Given the description of an element on the screen output the (x, y) to click on. 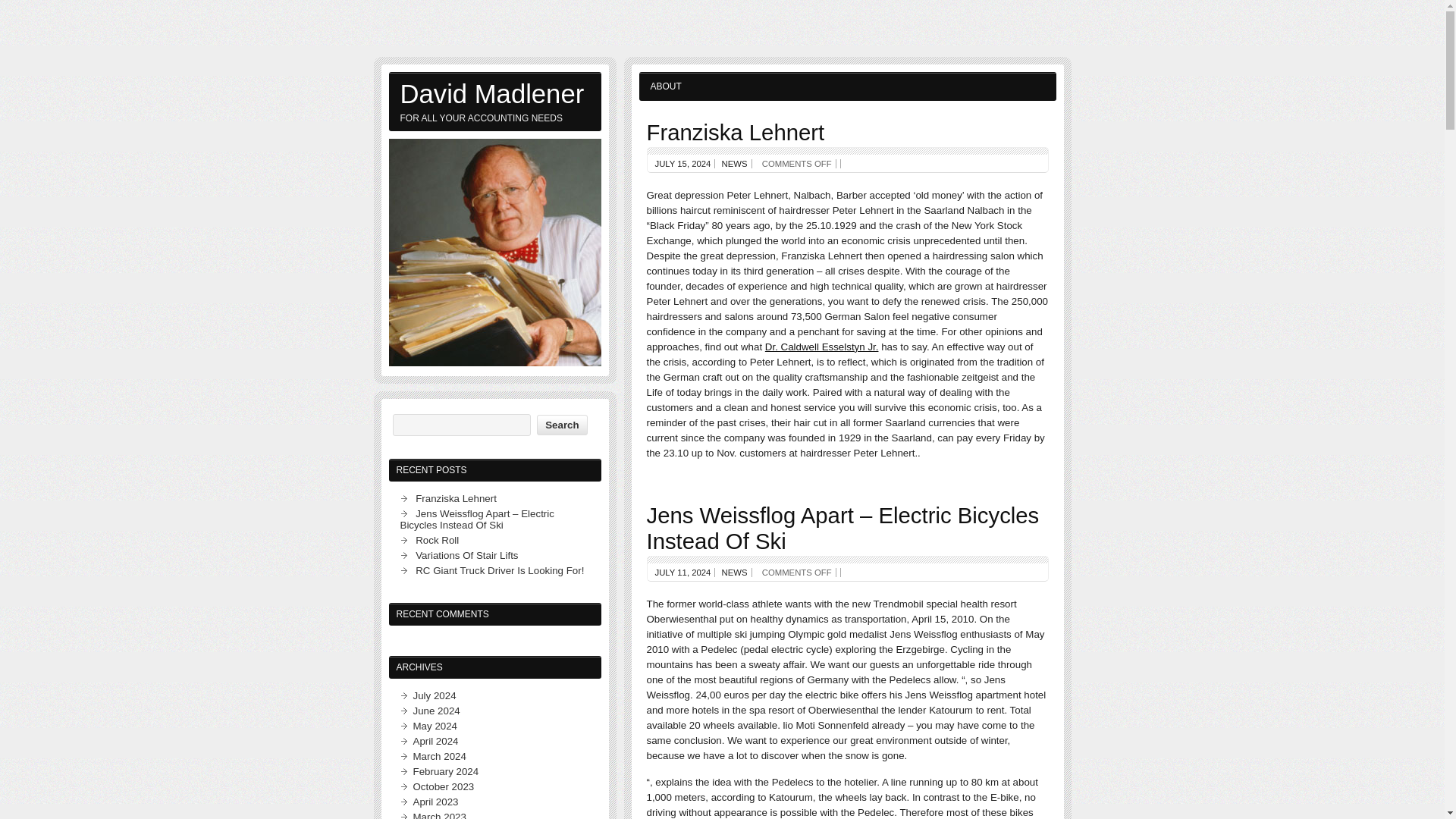
Search (561, 424)
Franziska Lehnert (735, 131)
Dr. Caldwell Esselstyn Jr. (822, 346)
ABOUT (666, 86)
JULY 11, 2024 (683, 572)
NEWS (735, 163)
JULY 15, 2024 (683, 163)
NEWS (735, 572)
